Given the description of an element on the screen output the (x, y) to click on. 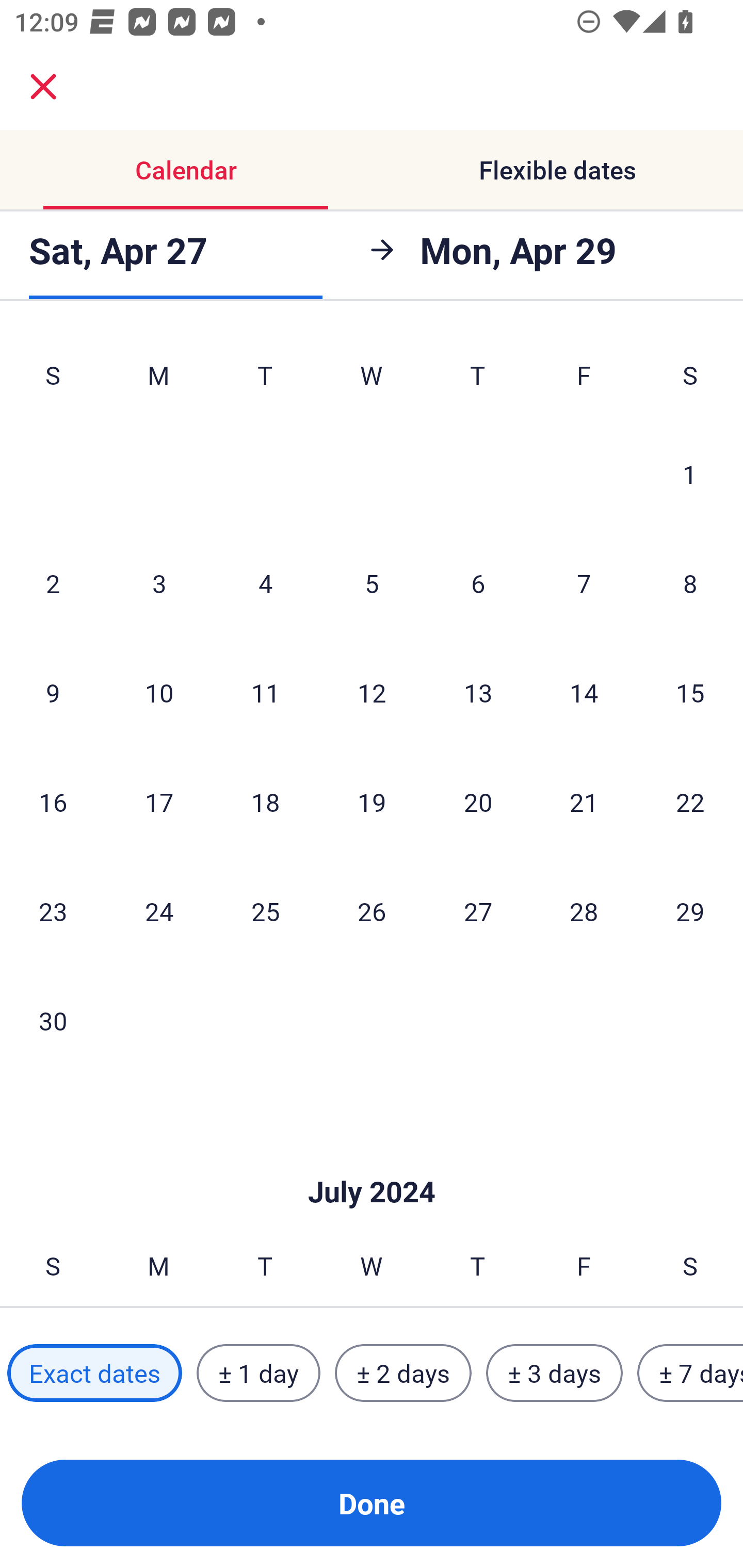
close. (43, 86)
Flexible dates (557, 170)
1 Saturday, June 1, 2024 (689, 473)
2 Sunday, June 2, 2024 (53, 582)
3 Monday, June 3, 2024 (159, 582)
4 Tuesday, June 4, 2024 (265, 582)
5 Wednesday, June 5, 2024 (371, 582)
6 Thursday, June 6, 2024 (477, 582)
7 Friday, June 7, 2024 (584, 582)
8 Saturday, June 8, 2024 (690, 582)
9 Sunday, June 9, 2024 (53, 691)
10 Monday, June 10, 2024 (159, 691)
11 Tuesday, June 11, 2024 (265, 691)
12 Wednesday, June 12, 2024 (371, 691)
13 Thursday, June 13, 2024 (477, 691)
14 Friday, June 14, 2024 (584, 691)
15 Saturday, June 15, 2024 (690, 691)
16 Sunday, June 16, 2024 (53, 801)
17 Monday, June 17, 2024 (159, 801)
18 Tuesday, June 18, 2024 (265, 801)
19 Wednesday, June 19, 2024 (371, 801)
20 Thursday, June 20, 2024 (477, 801)
21 Friday, June 21, 2024 (584, 801)
22 Saturday, June 22, 2024 (690, 801)
23 Sunday, June 23, 2024 (53, 910)
24 Monday, June 24, 2024 (159, 910)
25 Tuesday, June 25, 2024 (265, 910)
26 Wednesday, June 26, 2024 (371, 910)
27 Thursday, June 27, 2024 (477, 910)
28 Friday, June 28, 2024 (584, 910)
29 Saturday, June 29, 2024 (690, 910)
30 Sunday, June 30, 2024 (53, 1020)
Skip to Done (371, 1160)
Exact dates (94, 1372)
± 1 day (258, 1372)
± 2 days (403, 1372)
± 3 days (553, 1372)
± 7 days (690, 1372)
Done (371, 1502)
